Given the description of an element on the screen output the (x, y) to click on. 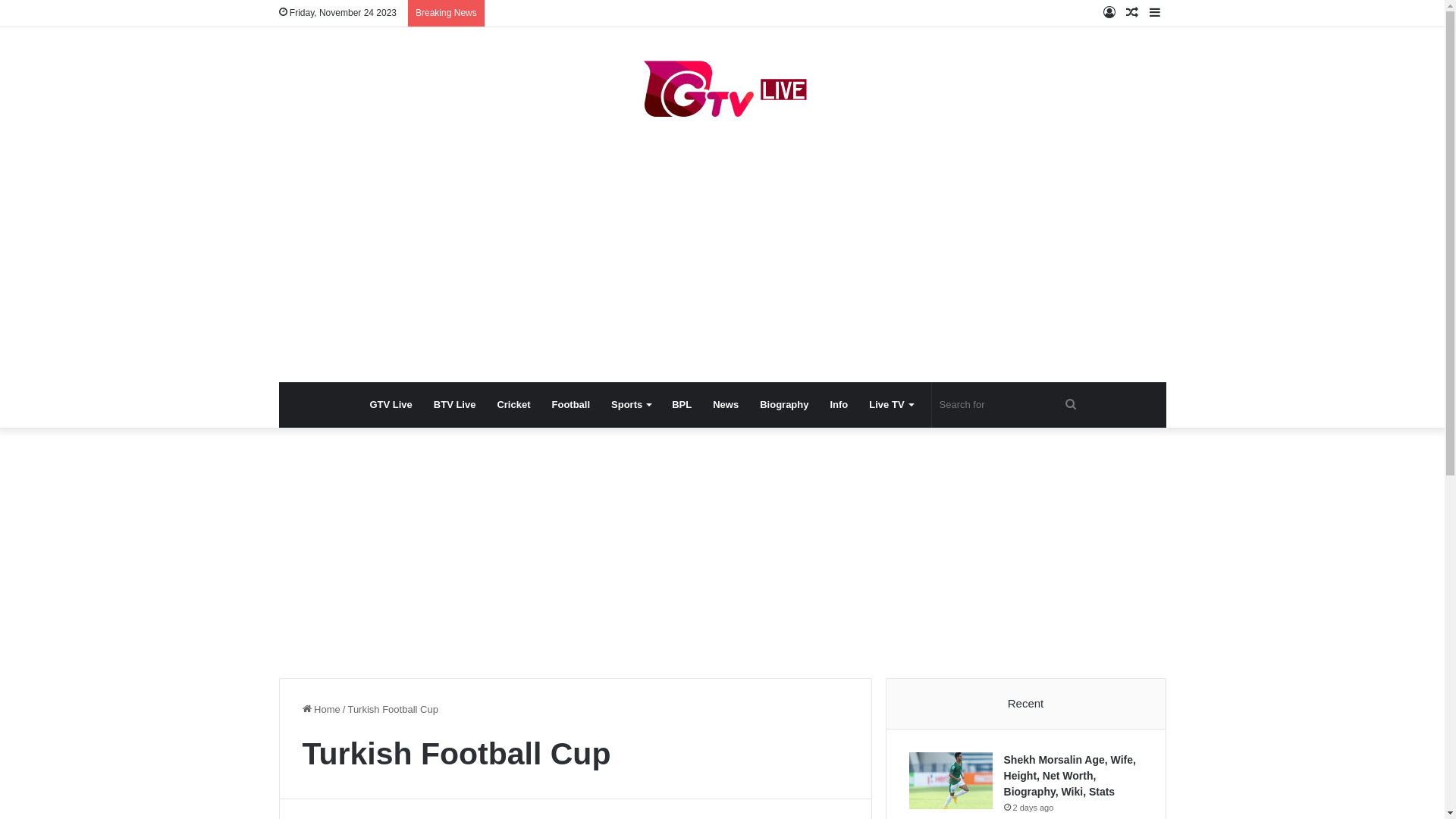
Sidebar Element type: text (1154, 13)
BPL Element type: text (681, 404)
Random Article Element type: text (1131, 13)
Info Element type: text (838, 404)
GTV Live Element type: text (390, 404)
News Element type: text (725, 404)
Search for Element type: text (1070, 404)
Advertisement Element type: hover (721, 548)
Sports Element type: text (630, 404)
Search for Element type: hover (1008, 404)
Football Element type: text (571, 404)
Home Element type: text (320, 709)
BTV Live Element type: text (454, 404)
Live TV Element type: text (890, 404)
Biography Element type: text (784, 404)
Cricket Element type: text (513, 404)
Recent Element type: text (1025, 703)
Log In Element type: text (1109, 13)
Advertisement Element type: hover (722, 260)
GTV Live Element type: hover (722, 90)
